Given the description of an element on the screen output the (x, y) to click on. 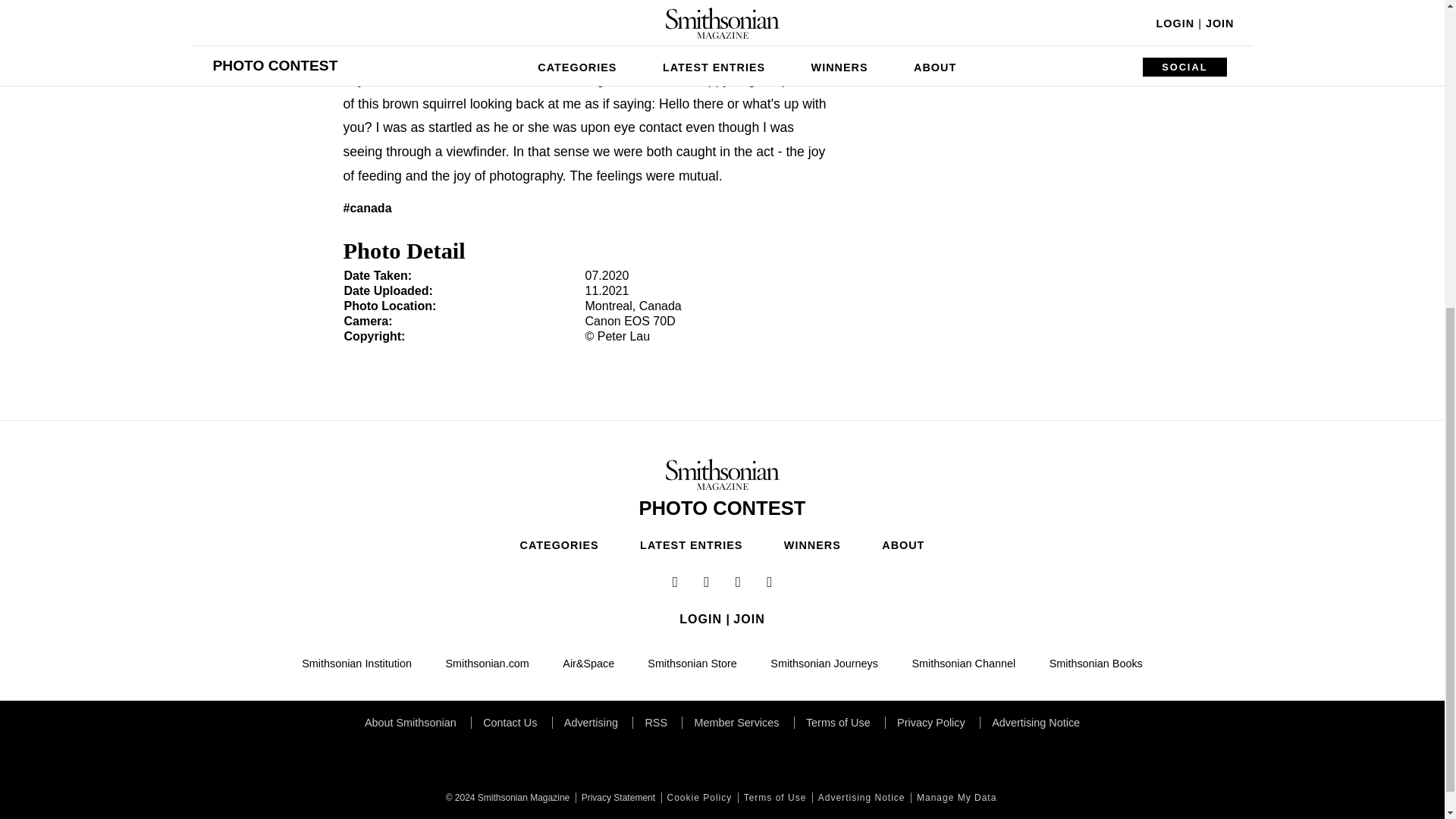
Advertising Notice (859, 797)
Terms of Use (773, 797)
Privacy Statement (616, 797)
Manage My Data (954, 797)
Cookie Policy (698, 797)
